Given the description of an element on the screen output the (x, y) to click on. 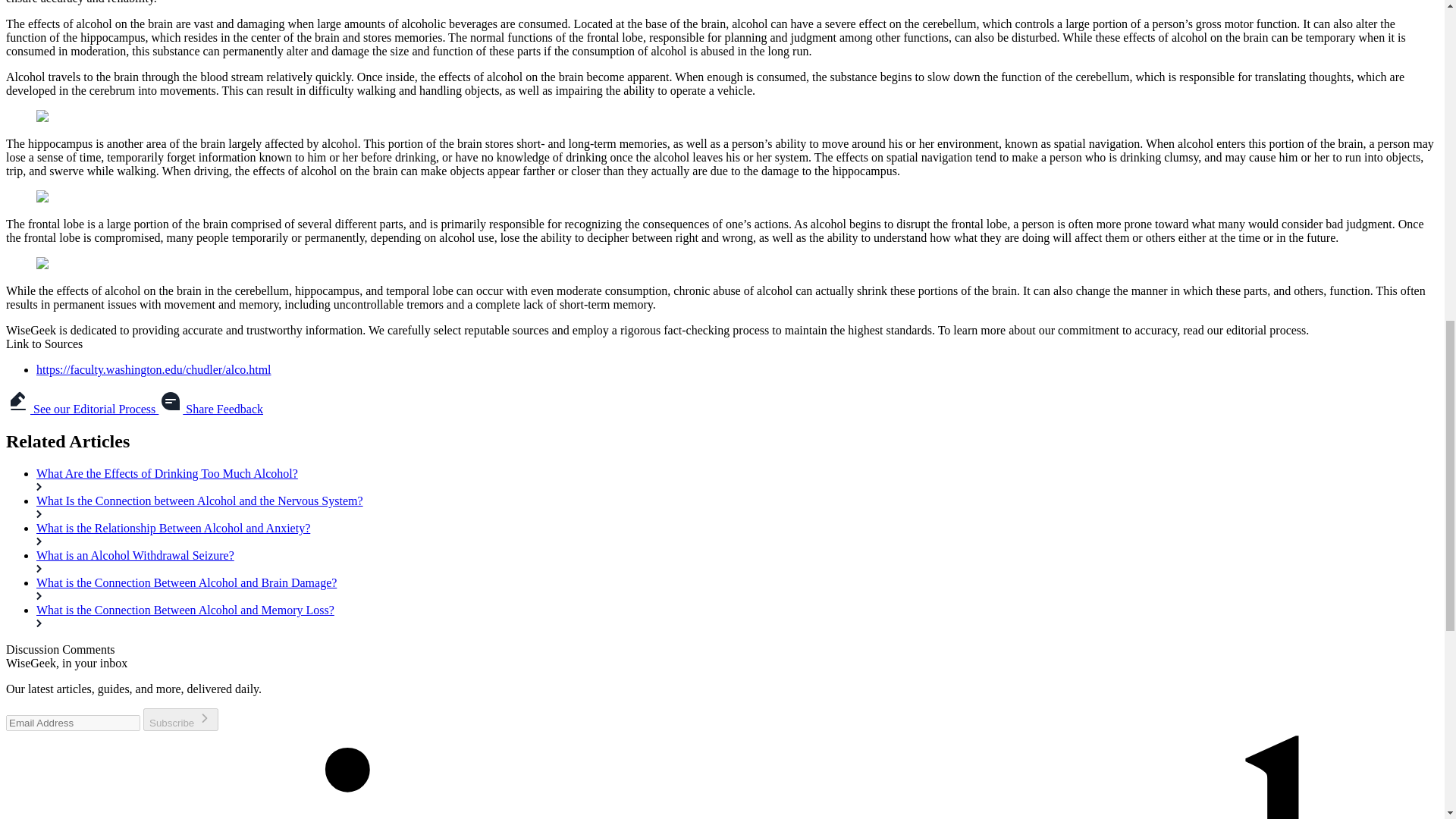
Share Feedback (210, 408)
Subscribe (180, 719)
See our Editorial Process (81, 408)
